Given the description of an element on the screen output the (x, y) to click on. 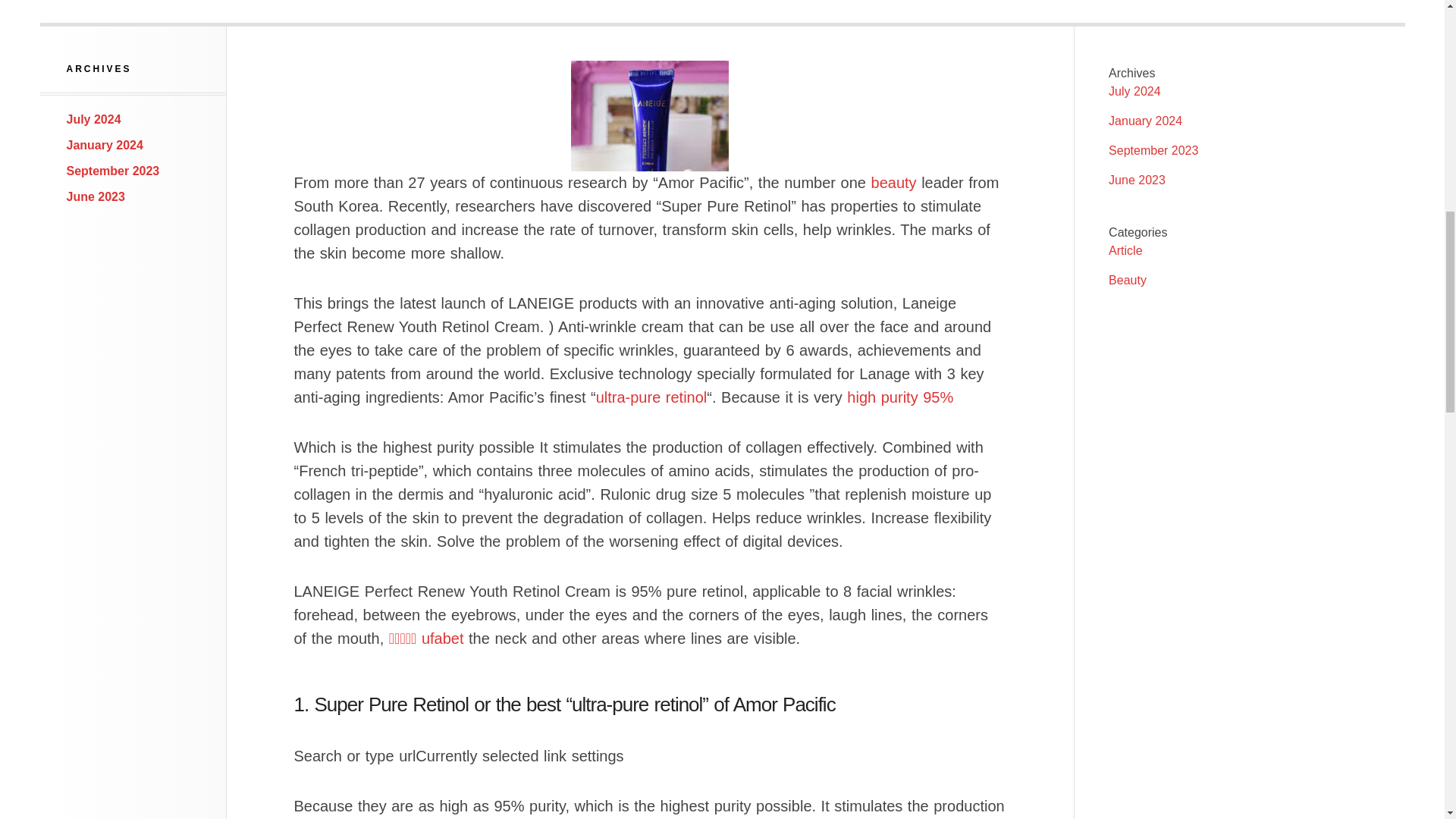
September 2023 (113, 170)
July 2024 (93, 119)
ultra-pure retinol (651, 397)
July 2024 (1134, 91)
Article (1124, 250)
June 2023 (95, 196)
January 2024 (1145, 120)
January 2024 (104, 144)
June 2023 (1137, 179)
beauty (893, 182)
September 2023 (1153, 150)
Beauty (1127, 279)
